Given the description of an element on the screen output the (x, y) to click on. 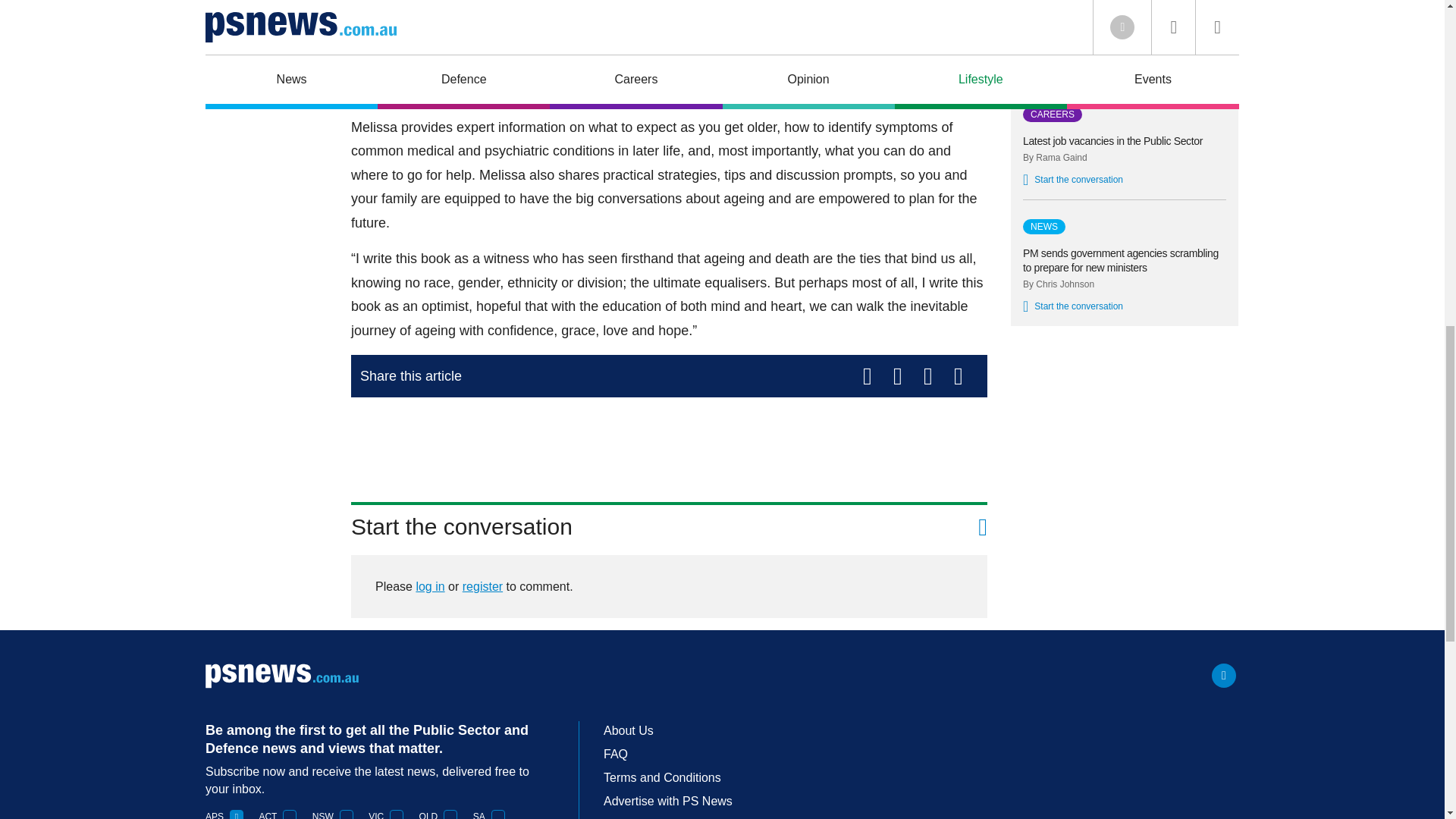
1 (396, 814)
1 (498, 814)
1 (450, 814)
1 (236, 814)
1 (289, 814)
LinkedIn (1223, 675)
1 (346, 814)
3rd party ad content (668, 443)
3rd party ad content (1124, 444)
